Given the description of an element on the screen output the (x, y) to click on. 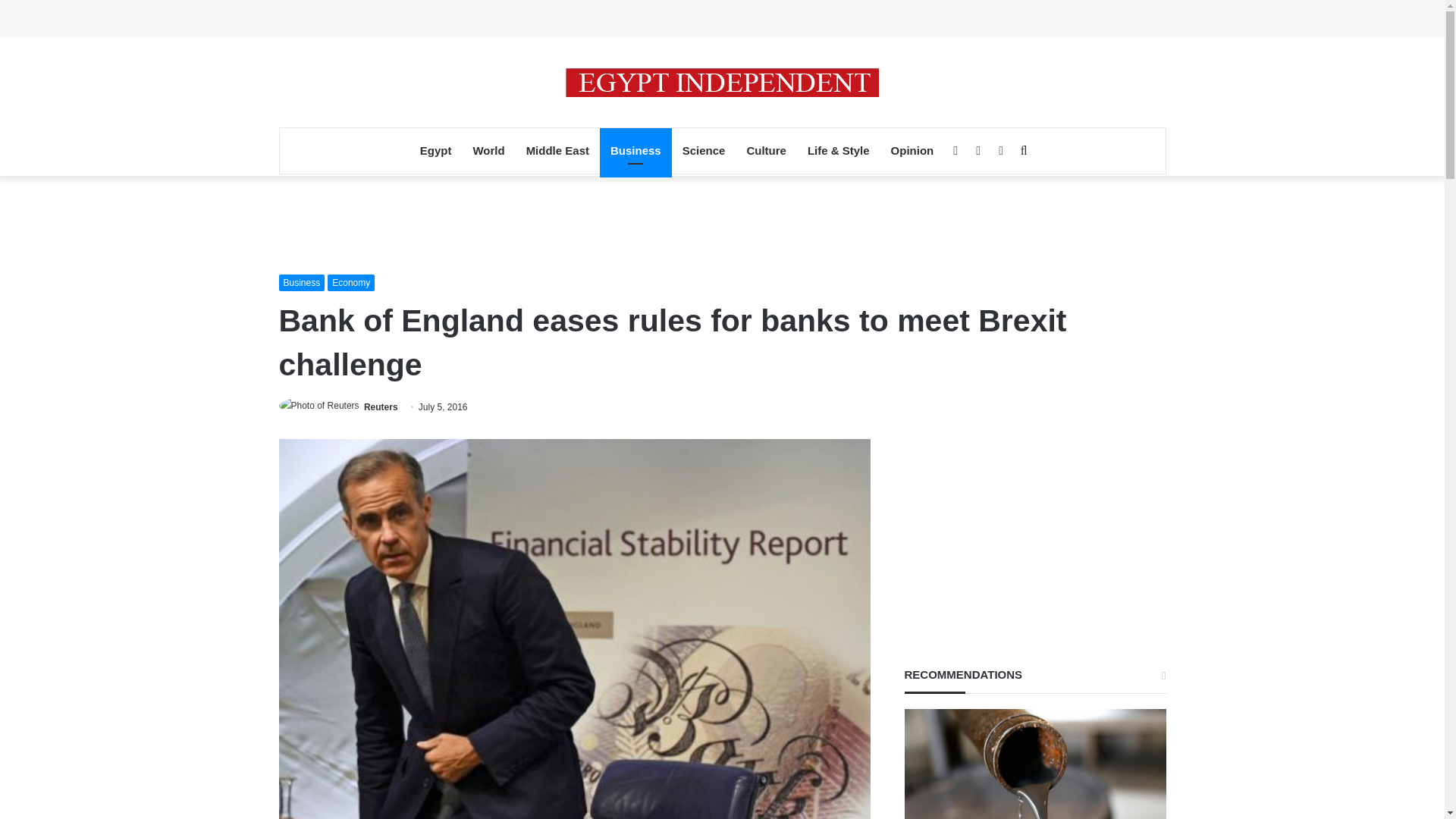
Middle East (557, 150)
Opinion (912, 150)
Egypt Independent (722, 82)
Reuters (380, 407)
Business (301, 282)
Business (635, 150)
Economy (350, 282)
Culture (765, 150)
Egypt (436, 150)
World (488, 150)
